Given the description of an element on the screen output the (x, y) to click on. 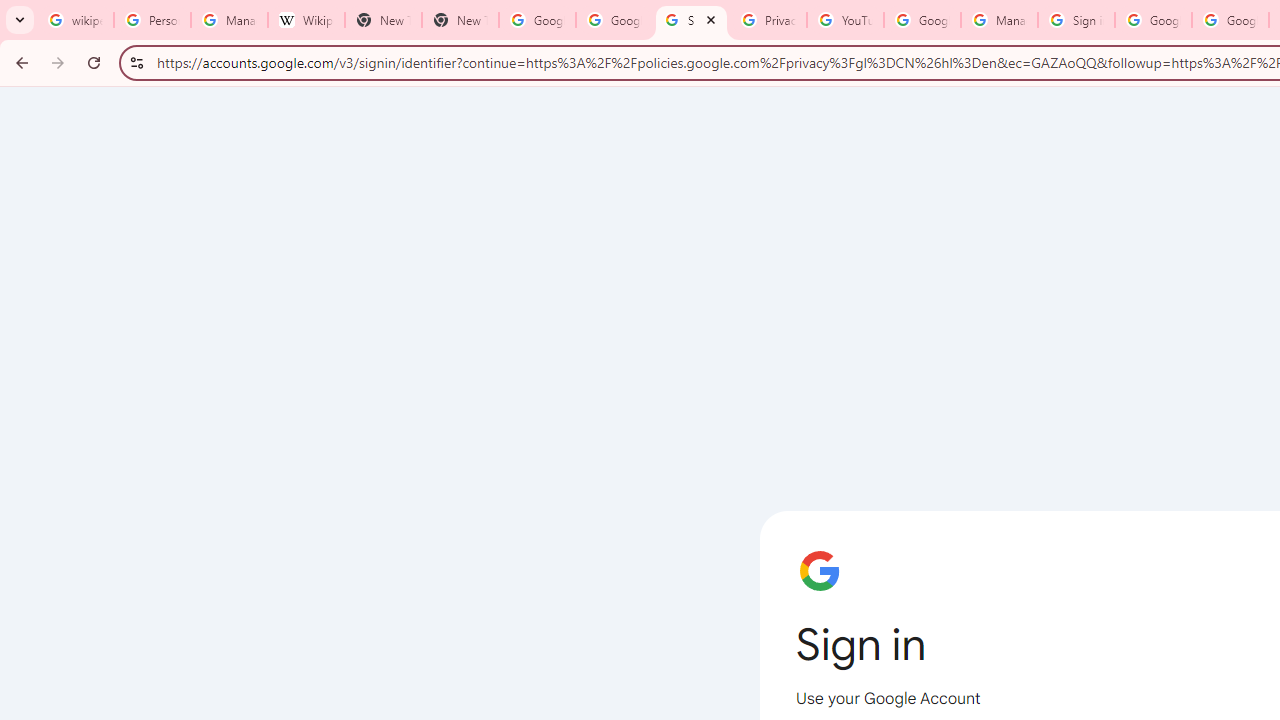
Wikipedia:Edit requests - Wikipedia (306, 20)
